Given the description of an element on the screen output the (x, y) to click on. 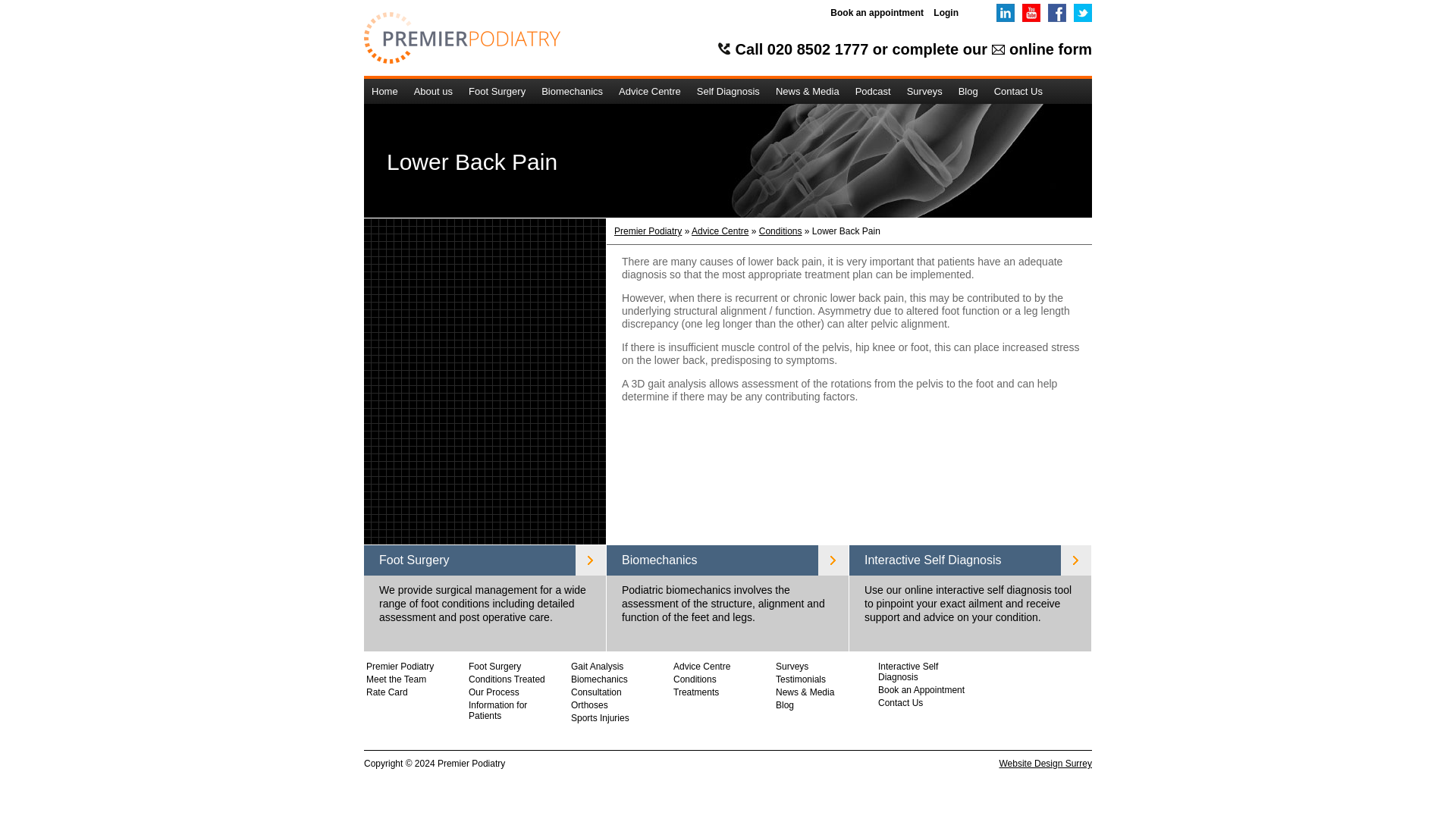
Login (945, 12)
Home (385, 91)
Book an appointment (876, 12)
Advice Centre (649, 91)
About us (433, 91)
Biomechanics (572, 91)
Login (945, 12)
complete our online form (991, 48)
Self Diagnosis (728, 91)
Foot Surgery (497, 91)
